Given the description of an element on the screen output the (x, y) to click on. 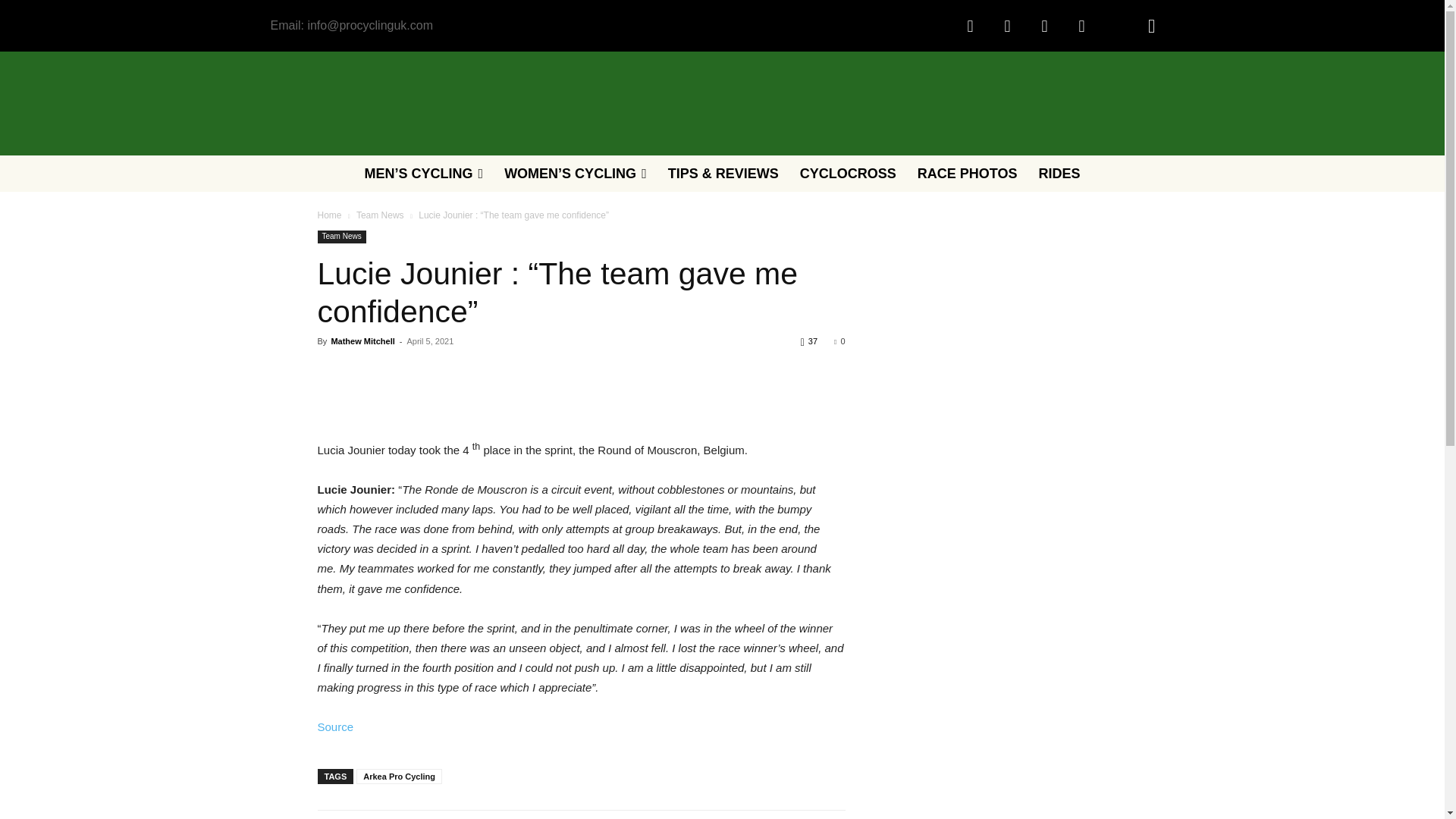
Twitter (1044, 26)
RACE PHOTOS (967, 173)
View all posts in Team News (380, 214)
Instagram (1006, 26)
Youtube (1080, 26)
Facebook (970, 26)
CYCLOCROSS (848, 173)
